Given the description of an element on the screen output the (x, y) to click on. 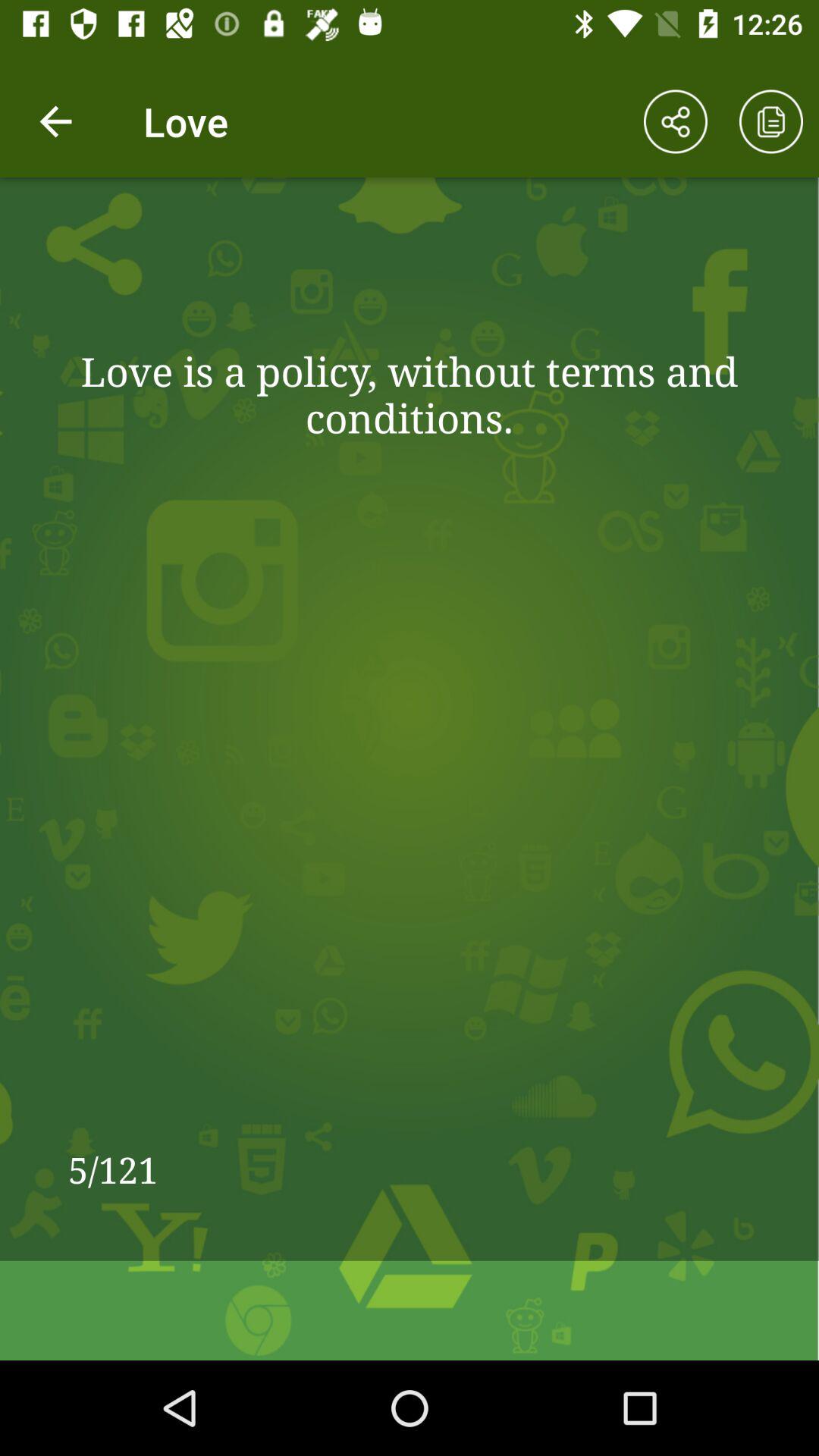
screen selection (771, 121)
